Given the description of an element on the screen output the (x, y) to click on. 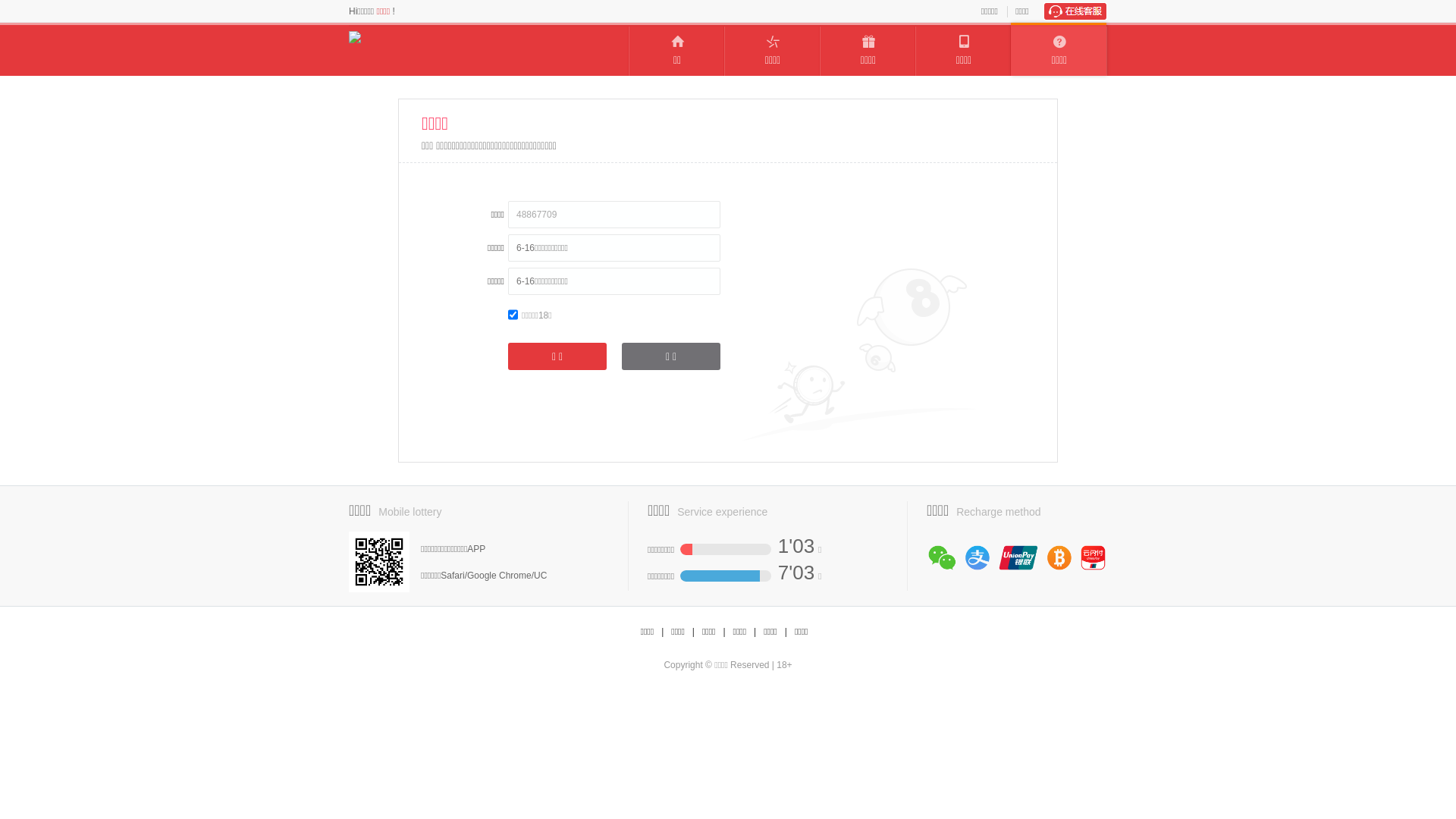
| Element type: text (662, 631)
| Element type: text (693, 631)
| Element type: text (754, 631)
| Element type: text (723, 631)
| Element type: text (785, 631)
